Given the description of an element on the screen output the (x, y) to click on. 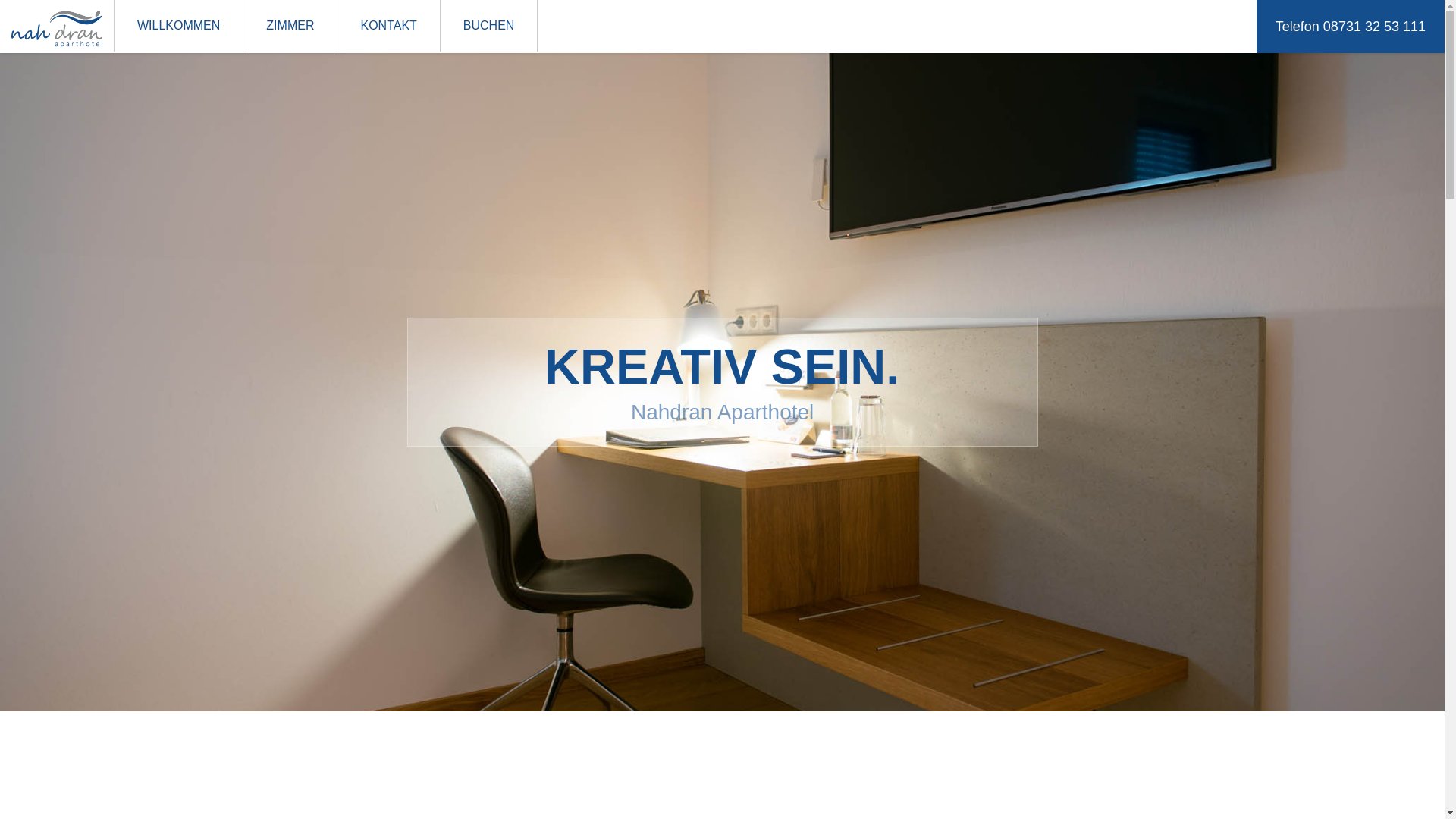
Telefon 08731 32 53 111 Element type: text (1350, 26)
